Given the description of an element on the screen output the (x, y) to click on. 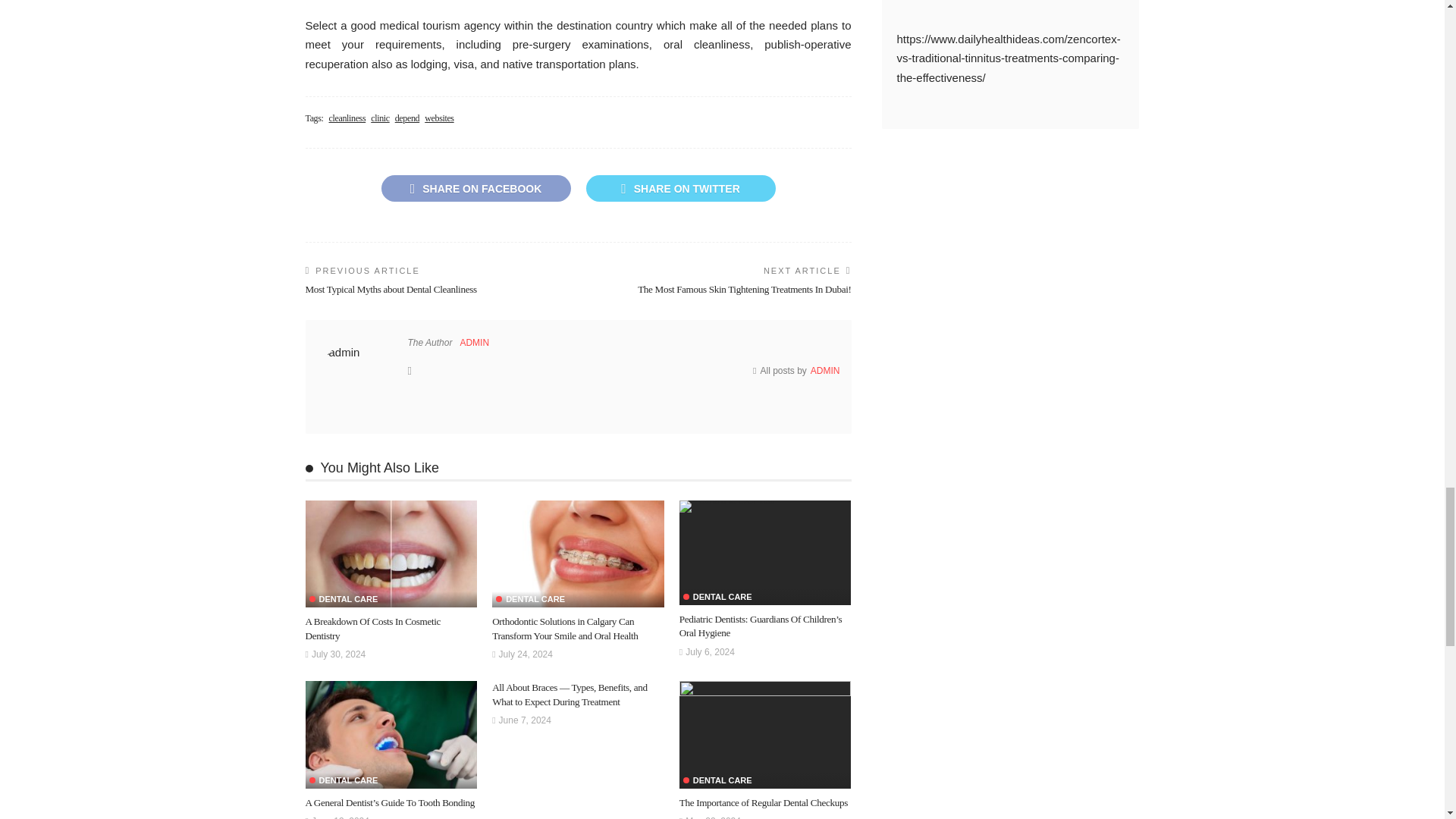
websites (438, 118)
clinic (380, 118)
Dental Care (343, 599)
depend (407, 118)
A Breakdown Of Costs In Cosmetic Dentistry (372, 627)
cleanliness (347, 118)
Dental Care (530, 599)
The Most Famous Skin Tightening Treatments In Dubai! (743, 288)
A Breakdown Of Costs In Cosmetic Dentistry (390, 554)
Most Typical Myths about Dental Cleanliness (390, 288)
